Given the description of an element on the screen output the (x, y) to click on. 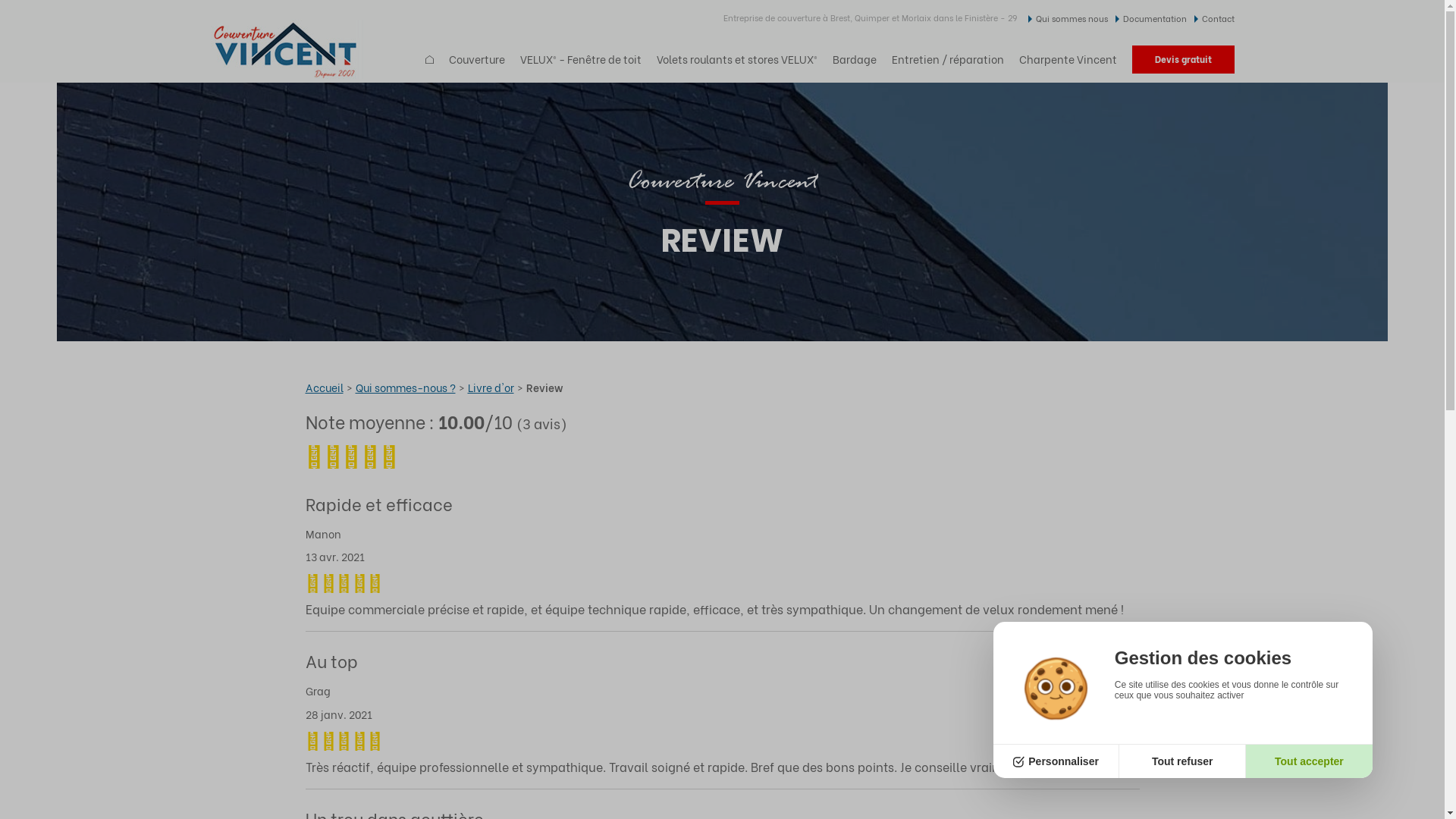
Contact Element type: text (1213, 18)
Personnaliser Element type: text (1056, 760)
Accueil Element type: text (323, 387)
Bardage Element type: text (854, 59)
Documentation Element type: text (1150, 18)
Livre d'or Element type: text (490, 387)
Tout accepter Element type: text (1308, 760)
Qui sommes nous Element type: text (1067, 18)
Tout refuser Element type: text (1182, 760)
Couverture Element type: text (476, 59)
Review Element type: text (544, 387)
Qui sommes-nous ? Element type: text (404, 387)
Charpente Vincent Element type: text (1067, 59)
Devis gratuit Element type: text (1182, 59)
